Given the description of an element on the screen output the (x, y) to click on. 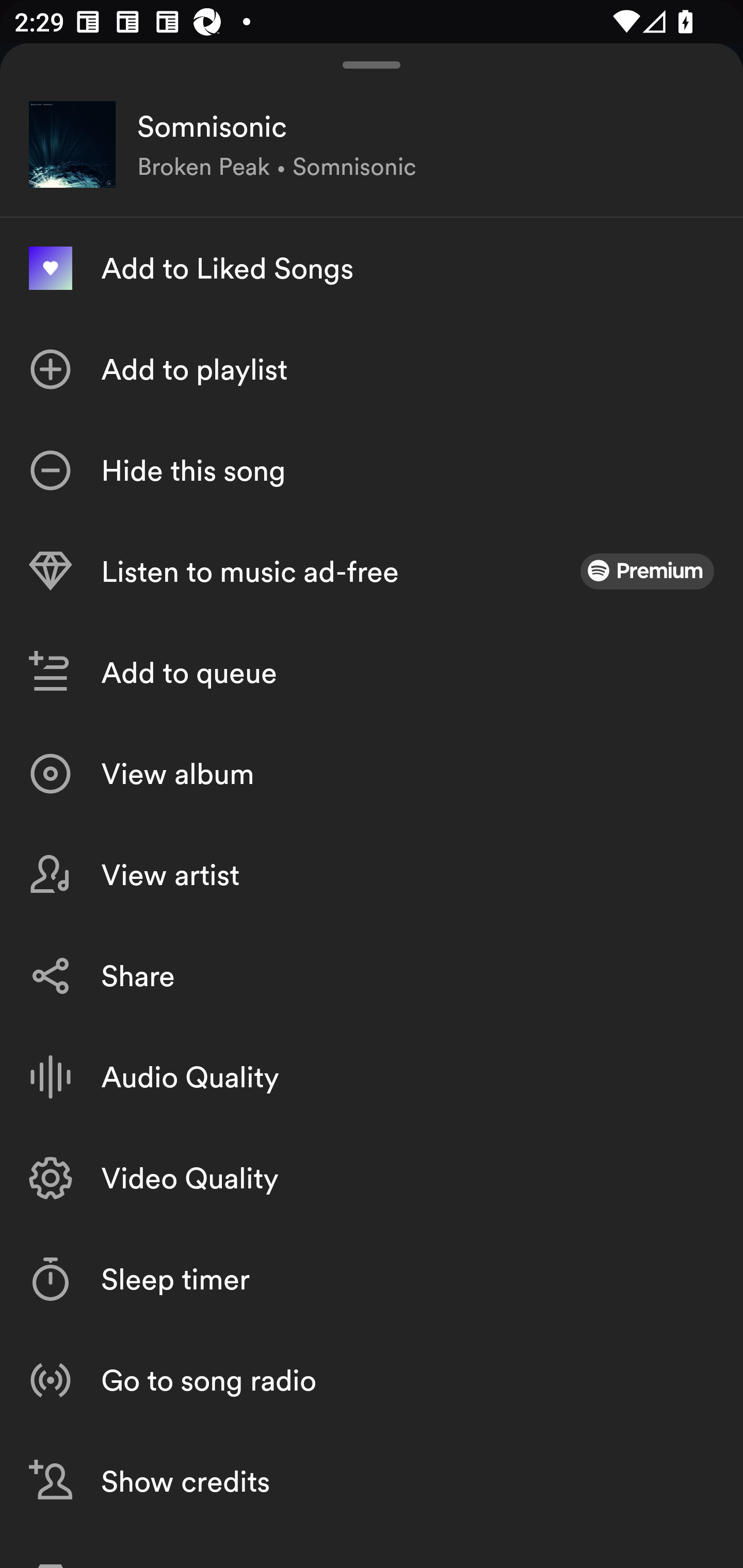
Add to Liked Songs (371, 267)
Add to playlist (371, 369)
Hide this song (371, 470)
Listen to music ad-free (371, 571)
Add to queue (371, 672)
View album (371, 773)
View artist (371, 874)
Share (371, 976)
Audio Quality (371, 1077)
Video Quality (371, 1178)
Sleep timer (371, 1279)
Go to song radio (371, 1379)
Show credits (371, 1480)
